Given the description of an element on the screen output the (x, y) to click on. 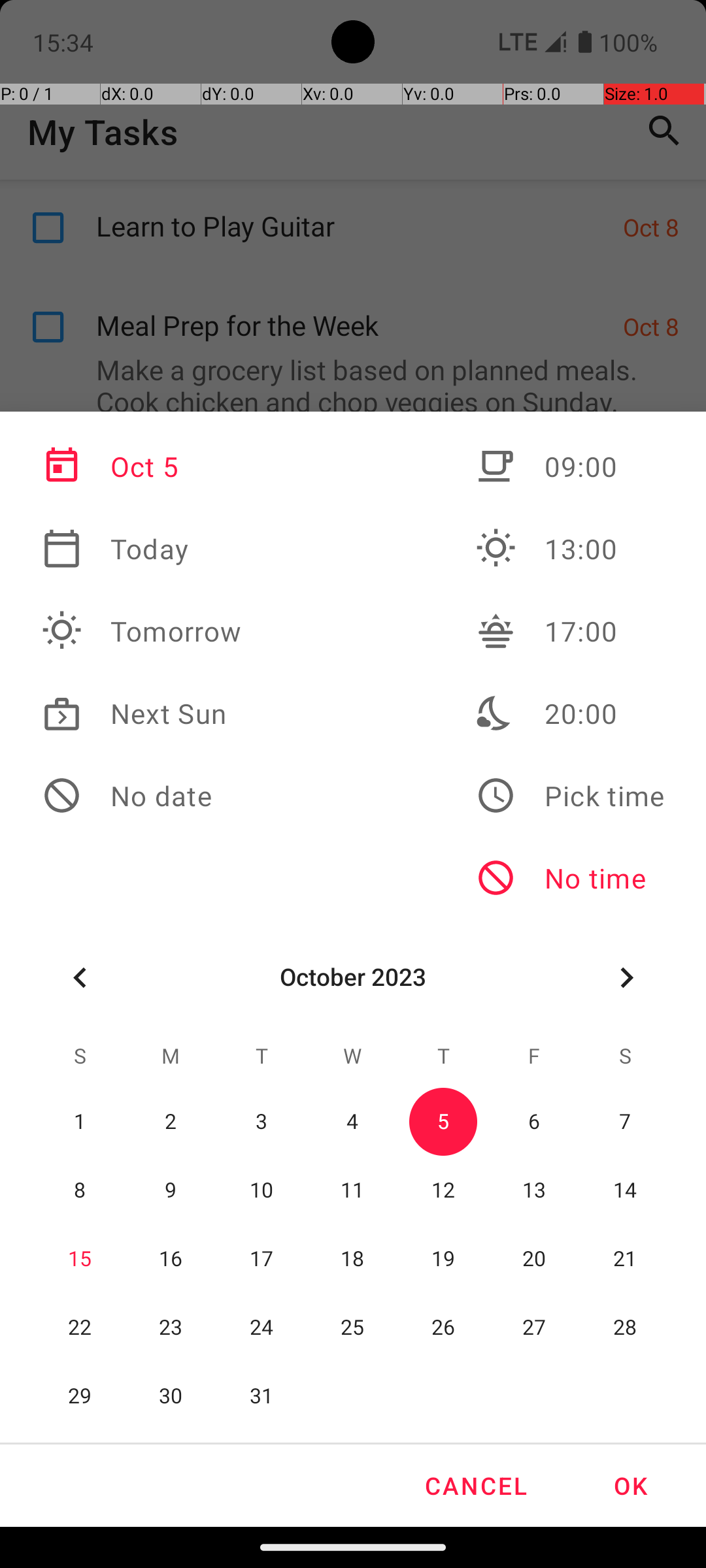
Oct 5 Element type: android.widget.CompoundButton (141, 466)
